Given the description of an element on the screen output the (x, y) to click on. 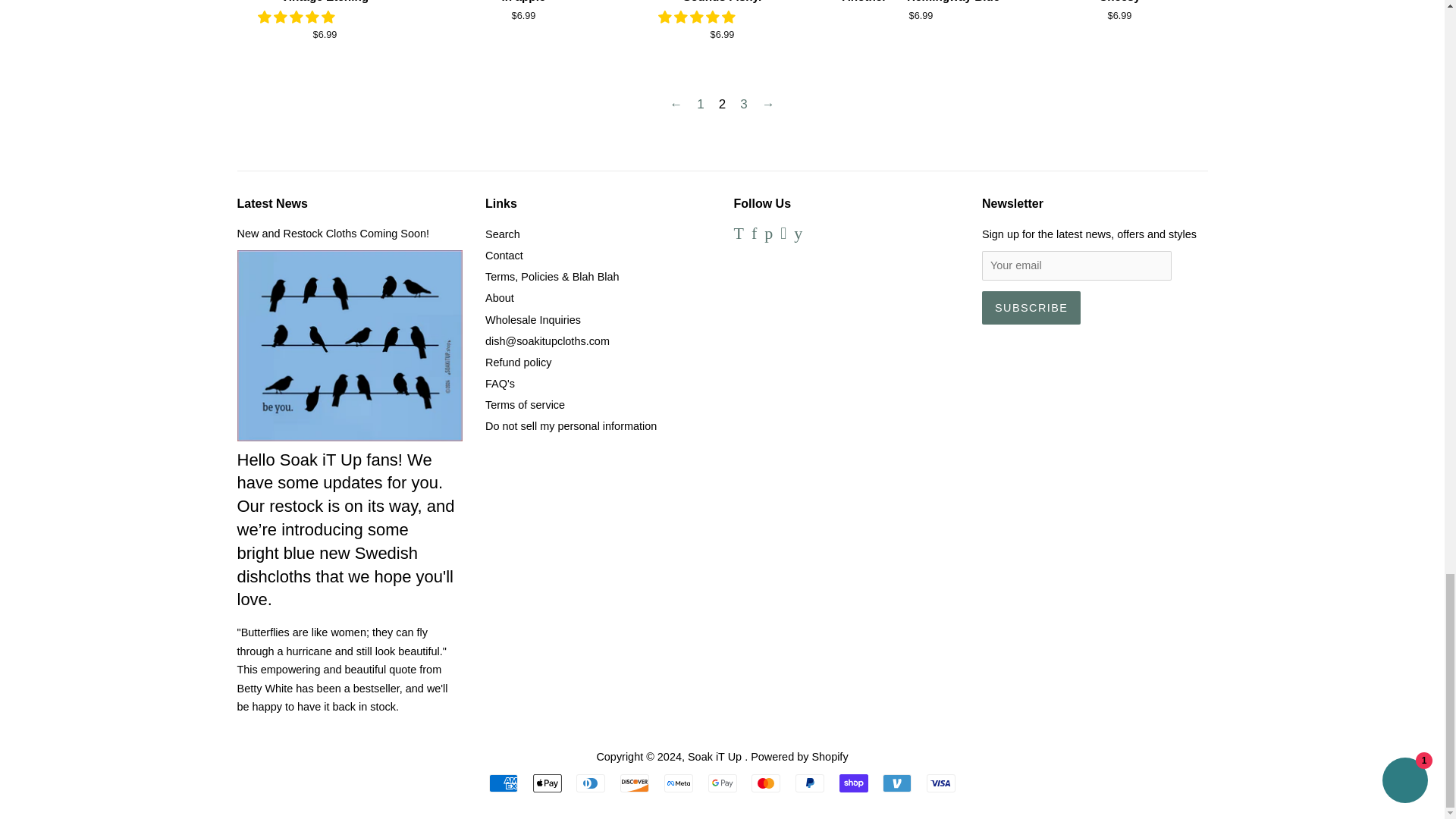
Google Pay (721, 782)
Meta Pay (678, 782)
Apple Pay (547, 782)
Subscribe (1030, 307)
Discover (634, 782)
American Express (503, 782)
Diners Club (590, 782)
Visa (940, 782)
PayPal (809, 782)
Mastercard (765, 782)
Shop Pay (853, 782)
Venmo (896, 782)
